Given the description of an element on the screen output the (x, y) to click on. 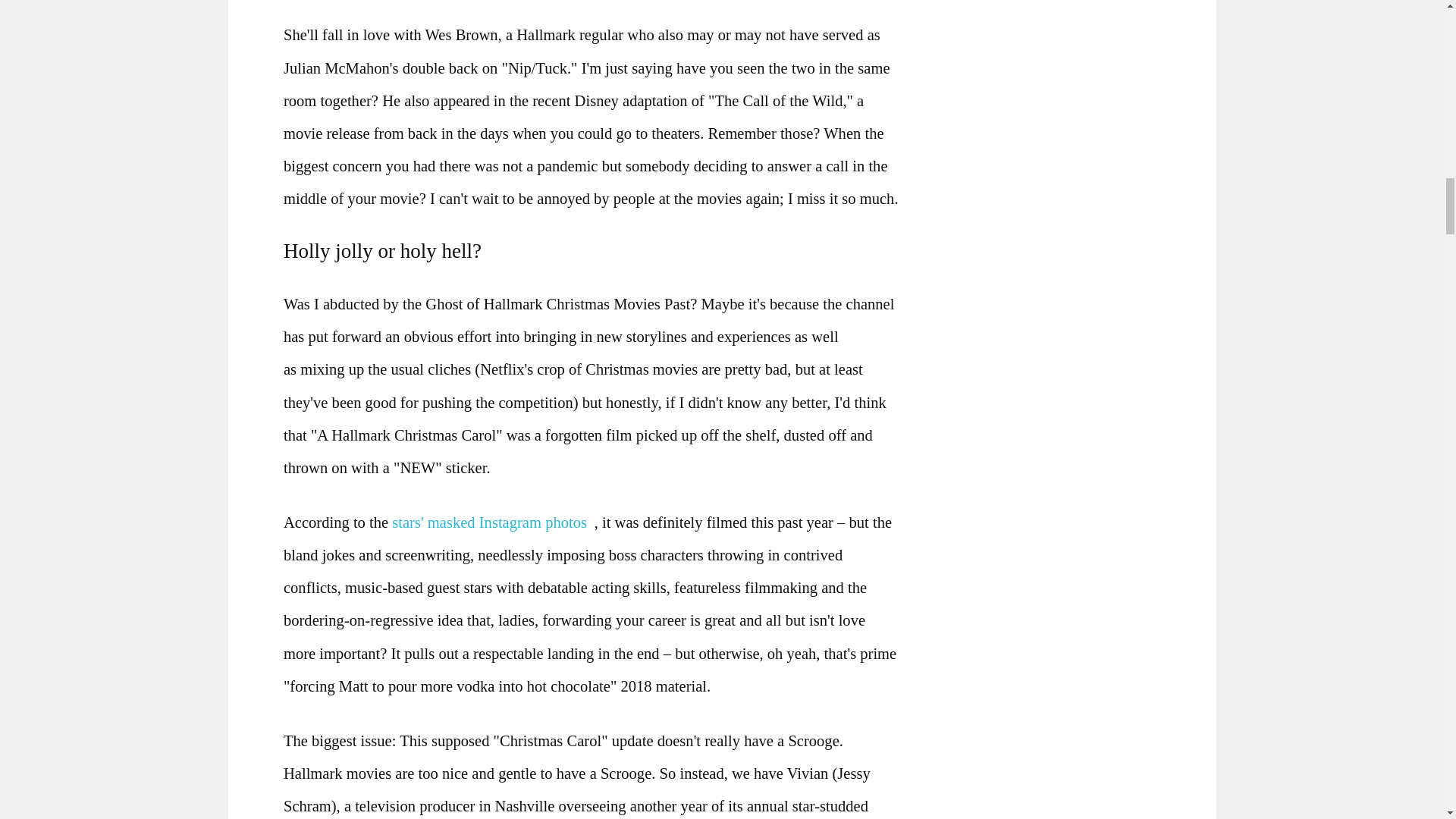
stars' masked Instagram photos (492, 522)
